Given the description of an element on the screen output the (x, y) to click on. 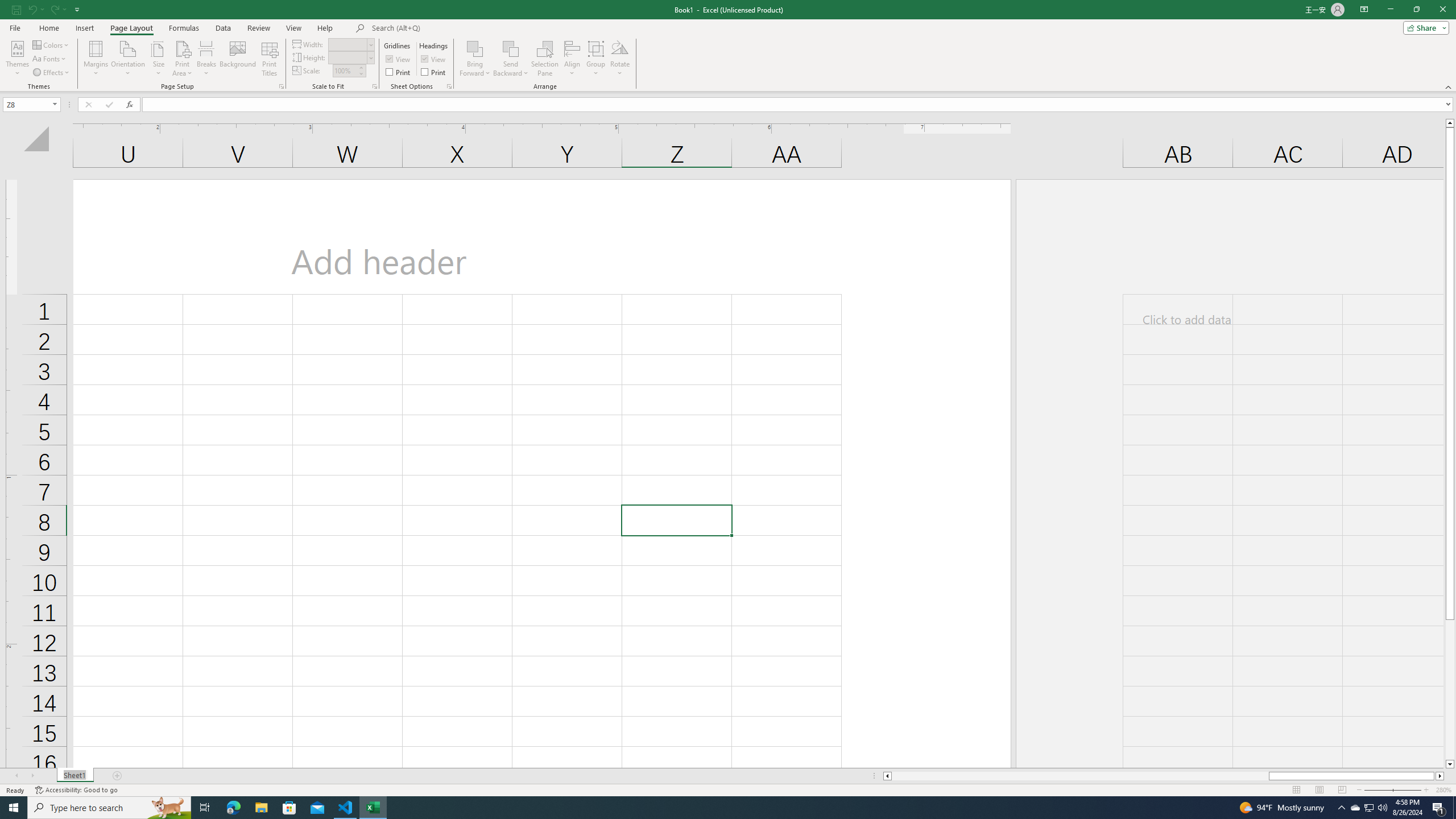
Sheet Tab (74, 775)
Sheet Options (449, 85)
Page Setup (374, 85)
Width (350, 44)
Send Backward (510, 48)
Orientation (128, 58)
Colors (51, 44)
